Given the description of an element on the screen output the (x, y) to click on. 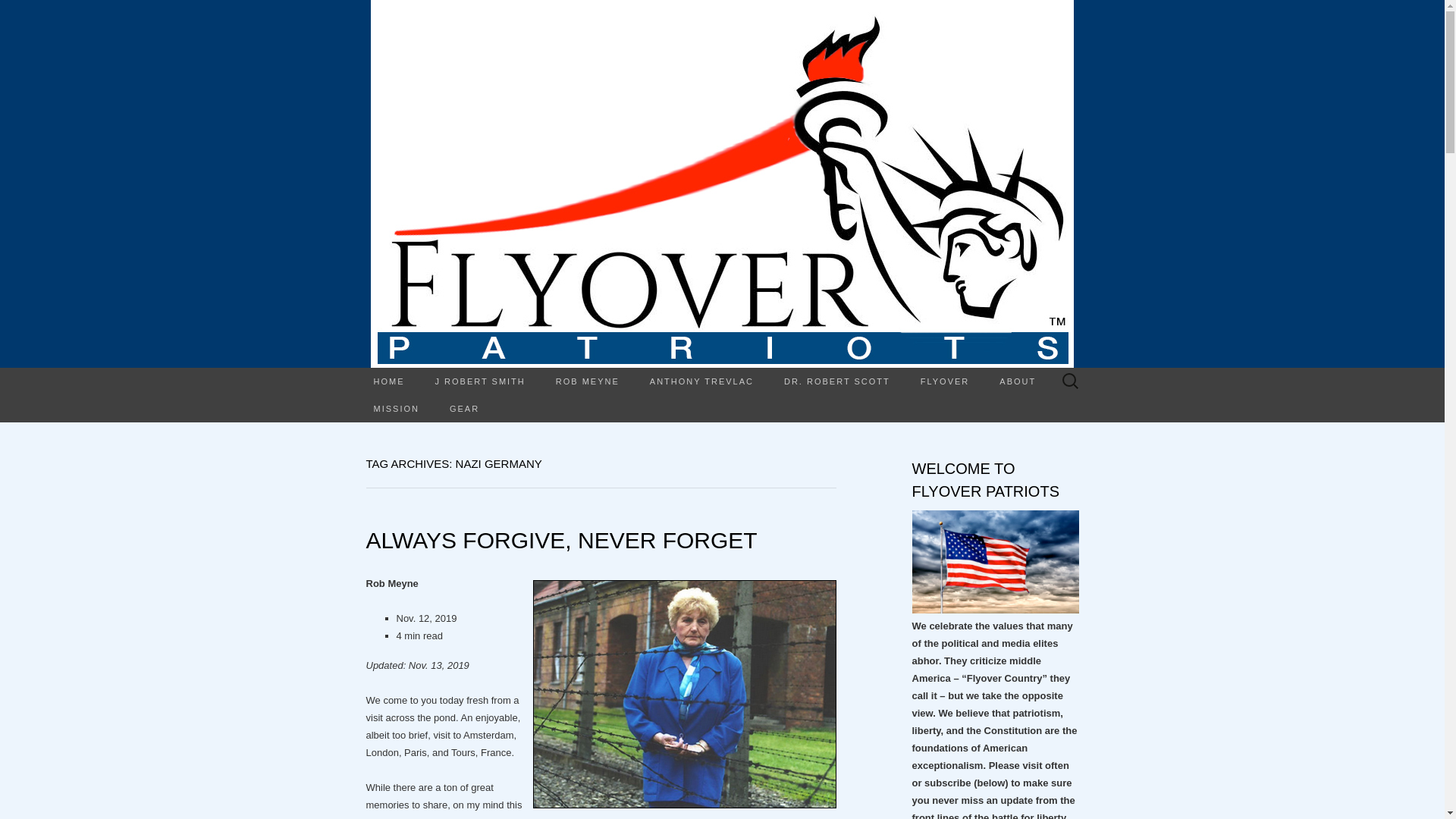
Search (16, 12)
HOME (388, 380)
ABOUT (1017, 380)
ROB MEYNE (587, 380)
ANTHONY TREVLAC (701, 380)
ALWAYS FORGIVE, NEVER FORGET (561, 539)
GEAR (464, 408)
FLYOVER (945, 380)
MISSION (395, 408)
DR. ROBERT SCOTT (836, 380)
J ROBERT SMITH (480, 380)
